Given the description of an element on the screen output the (x, y) to click on. 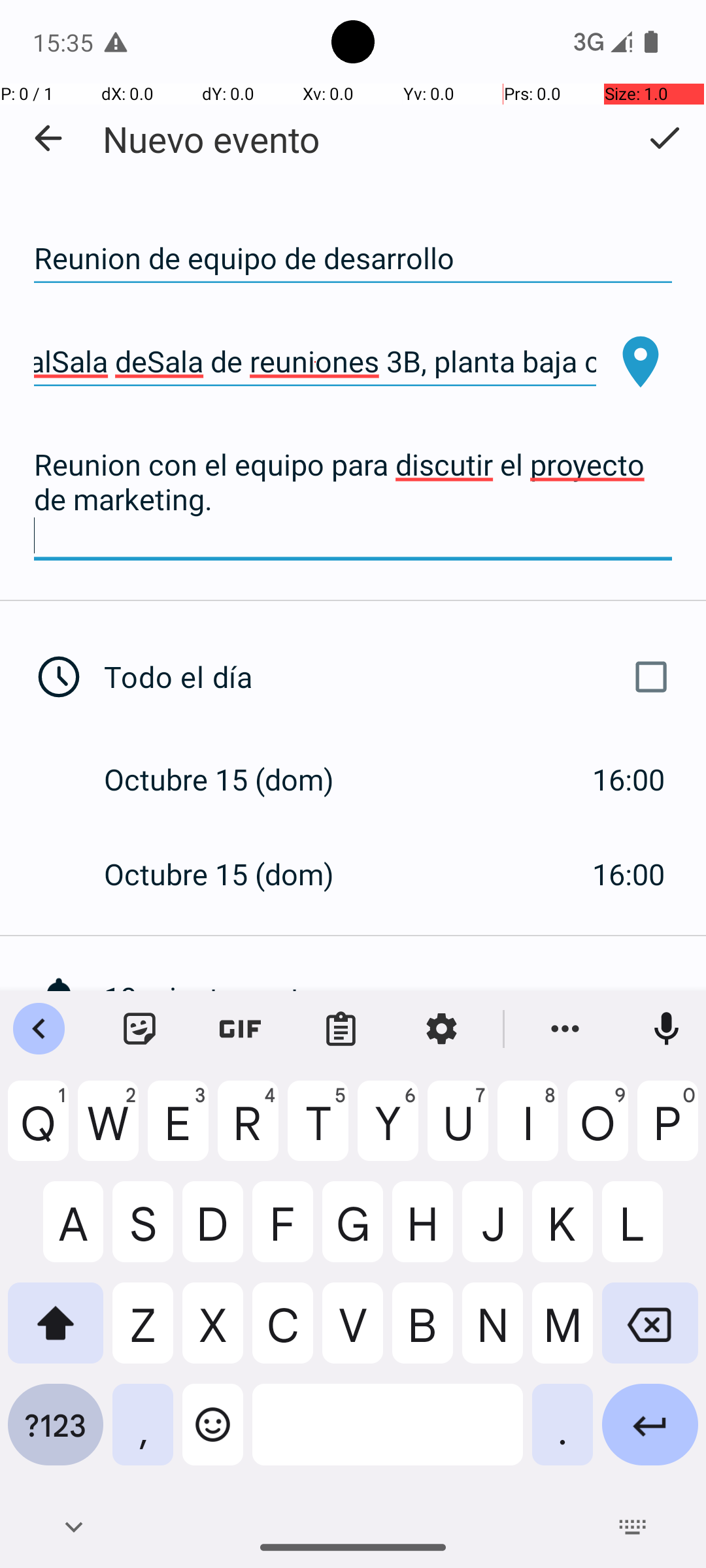
Reunion de equipo de desarrollo Element type: android.widget.EditText (352, 258)
Oficina centralSala deSala de reuniones 3B, planta baja conferencias 3B Element type: android.widget.EditText (314, 361)
Reunion con el equipo para discutir el proyecto de marketing.
 Element type: android.widget.EditText (352, 499)
